Given the description of an element on the screen output the (x, y) to click on. 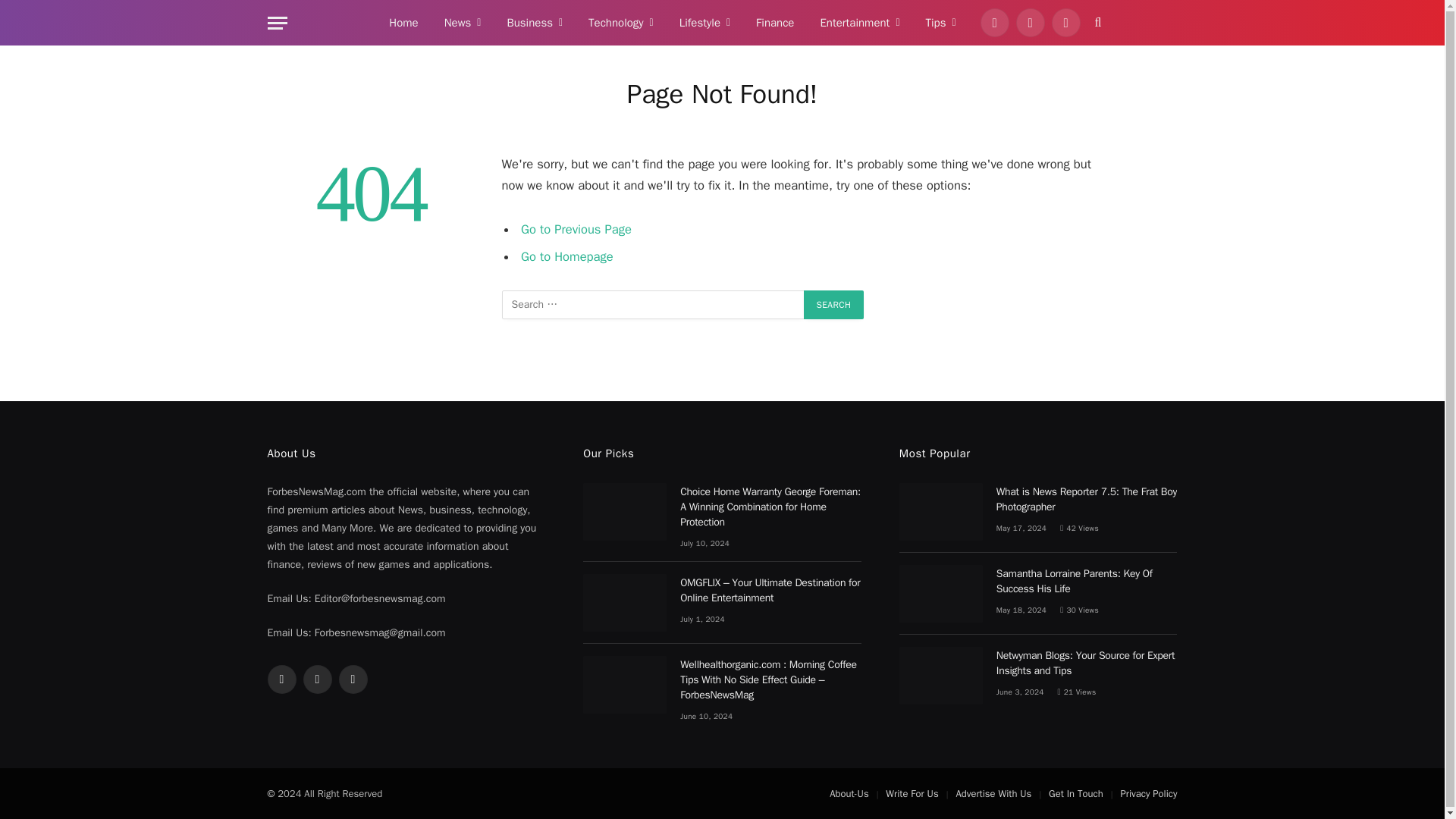
Business (534, 22)
Home (402, 22)
Search (833, 304)
News (462, 22)
Search (833, 304)
